Given the description of an element on the screen output the (x, y) to click on. 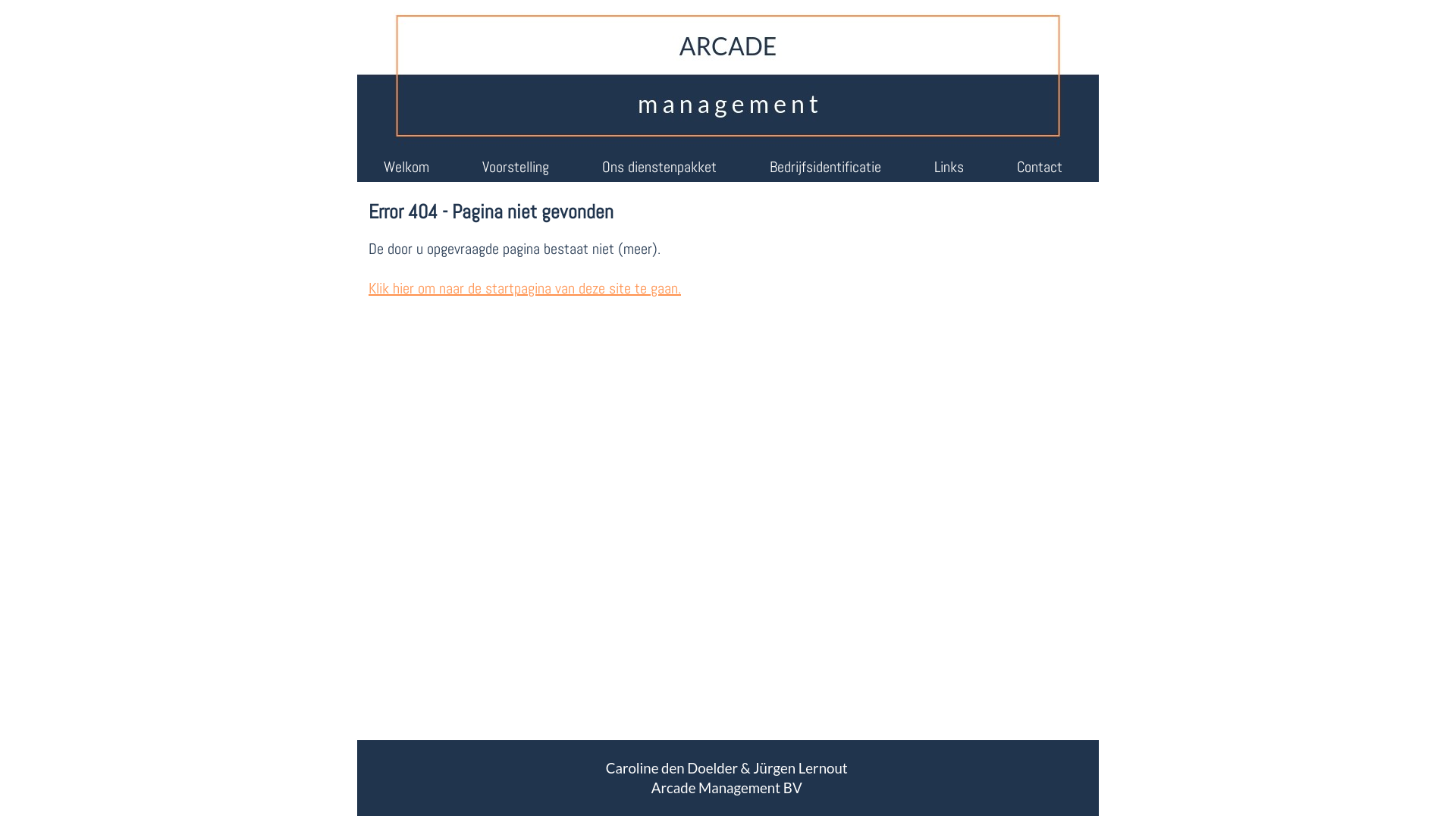
Voorstelling Element type: text (515, 166)
Klik hier om naar de startpagina van deze site te gaan. Element type: text (524, 288)
Contact Element type: text (1039, 166)
Ons dienstenpakket Element type: text (659, 166)
Welkom Element type: text (406, 166)
Links Element type: text (948, 166)
Bedrijfsidentificatie Element type: text (825, 166)
